Given the description of an element on the screen output the (x, y) to click on. 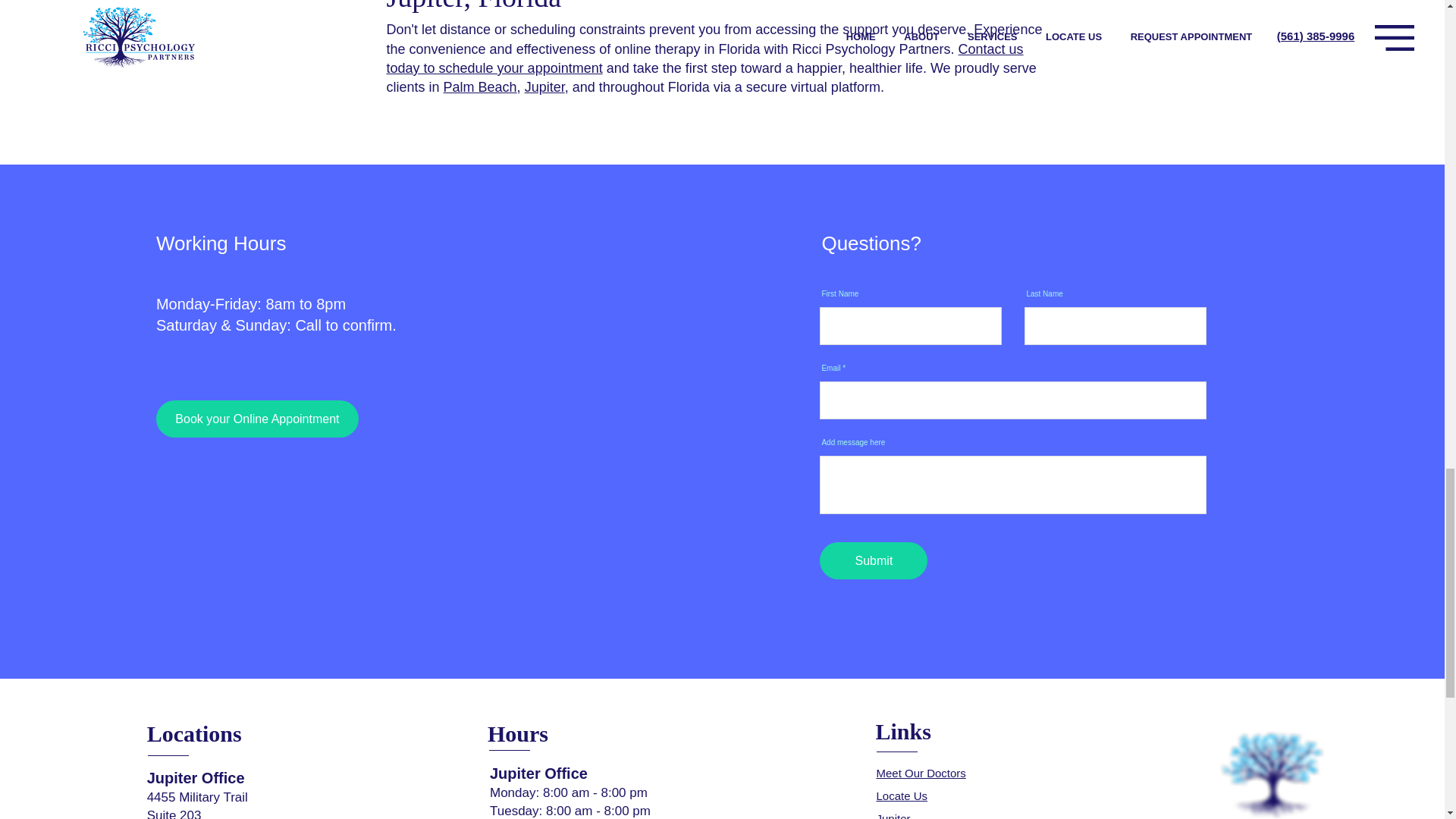
Palm Beach (480, 87)
Contact us today to schedule your appointment (705, 58)
